Given the description of an element on the screen output the (x, y) to click on. 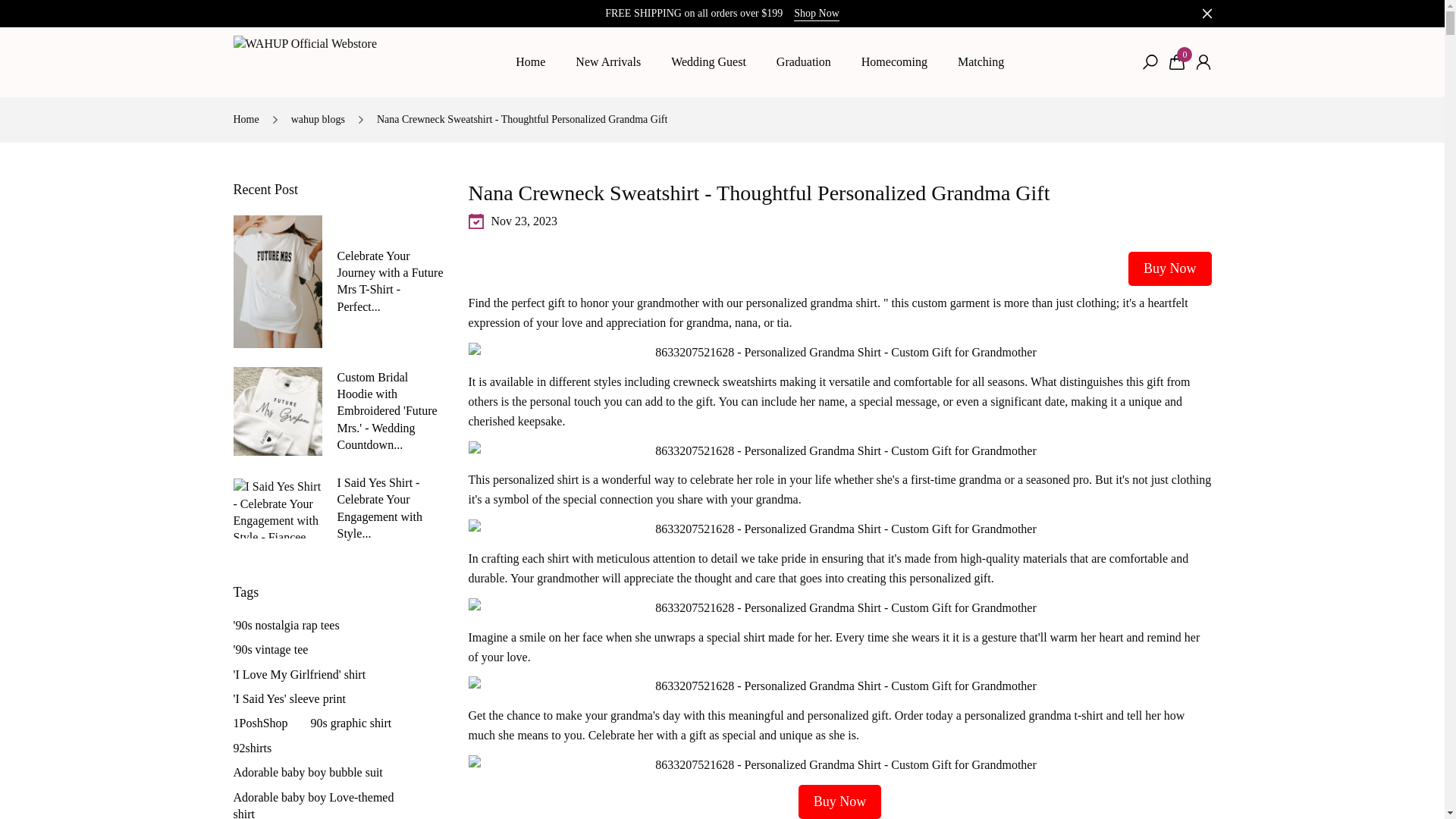
New Arrivals (608, 62)
0 (1177, 61)
Wedding Guest (708, 62)
Homecoming (893, 62)
Matching (980, 62)
Graduation (803, 62)
Shop Now (816, 13)
